Given the description of an element on the screen output the (x, y) to click on. 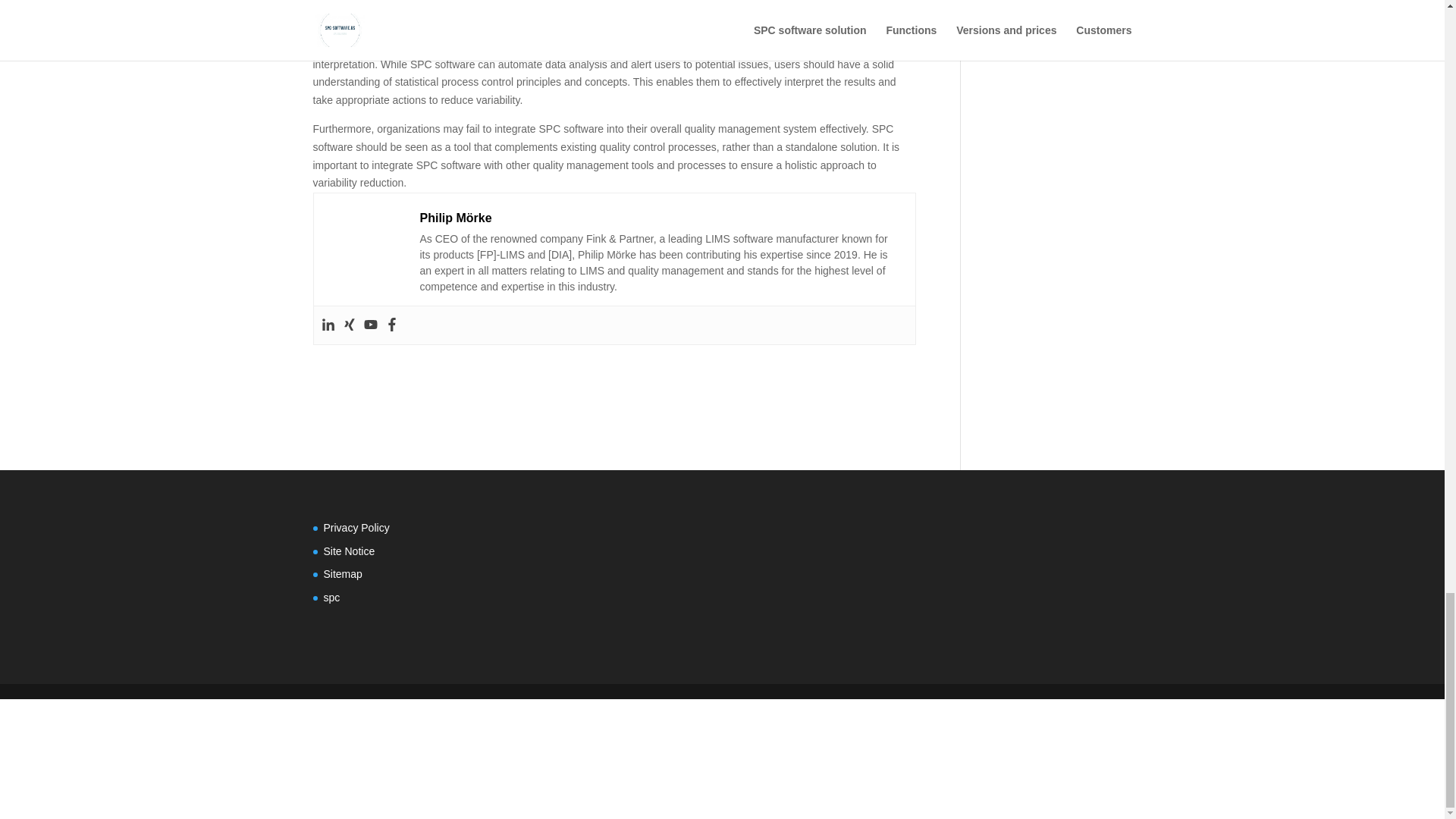
SPC Software (614, 378)
Site Notice (348, 550)
Google Review Widget (858, 576)
Privacy Policy (355, 527)
Linkedin (327, 324)
Youtube (370, 324)
Xing (349, 324)
spc (331, 597)
Sitemap (342, 573)
Facebook (391, 324)
